Given the description of an element on the screen output the (x, y) to click on. 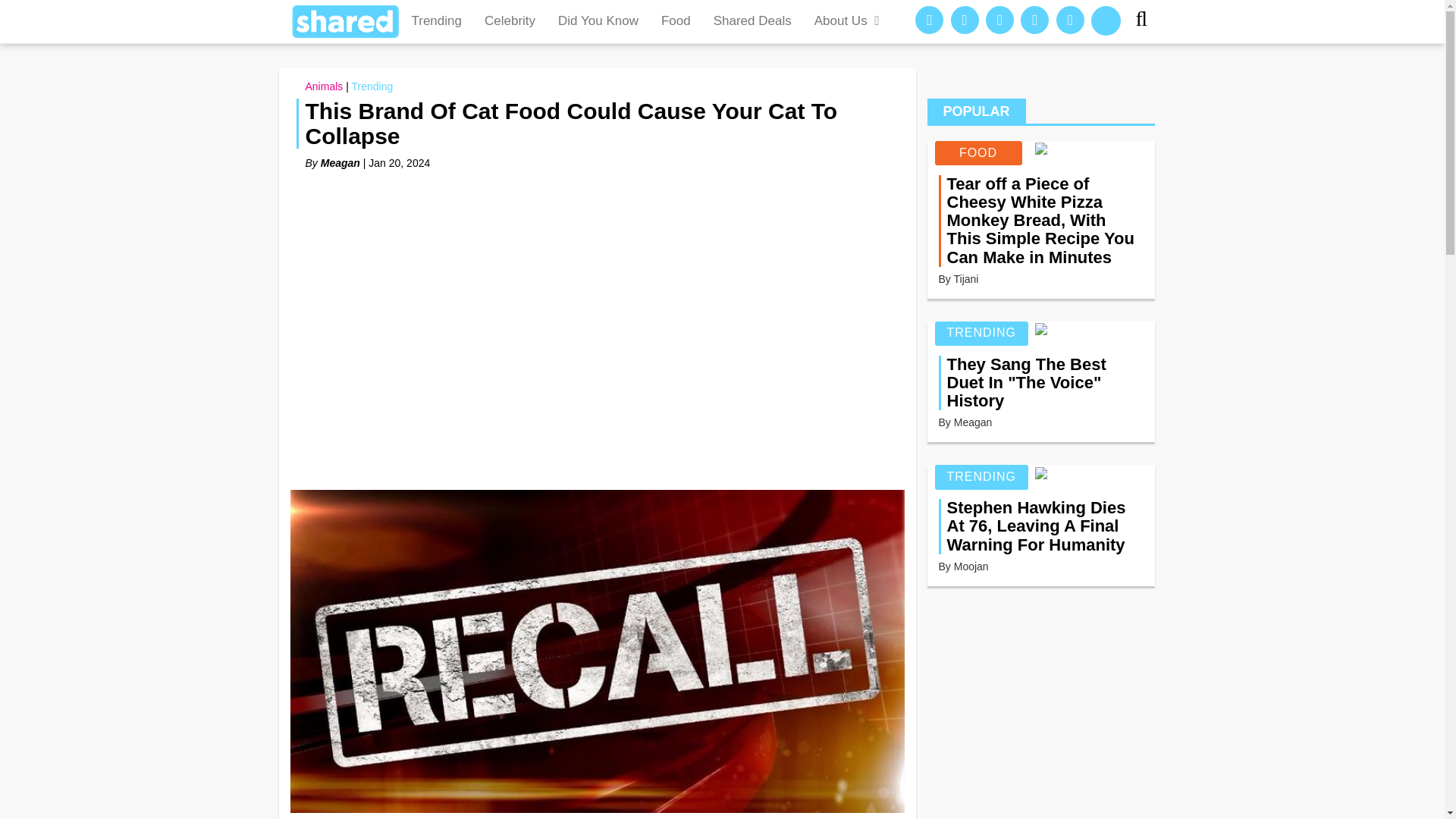
Moojan's Profile (970, 566)
Trending (371, 86)
Search (1147, 21)
About Us (848, 21)
Animals (323, 86)
Food (675, 21)
instagram (999, 19)
Meagan (339, 162)
Shared Deals (752, 21)
snapchat (1105, 20)
Trending (436, 21)
youtube (1070, 19)
facebook (929, 19)
Meagan's Profile (972, 422)
Celebrity (510, 21)
